Given the description of an element on the screen output the (x, y) to click on. 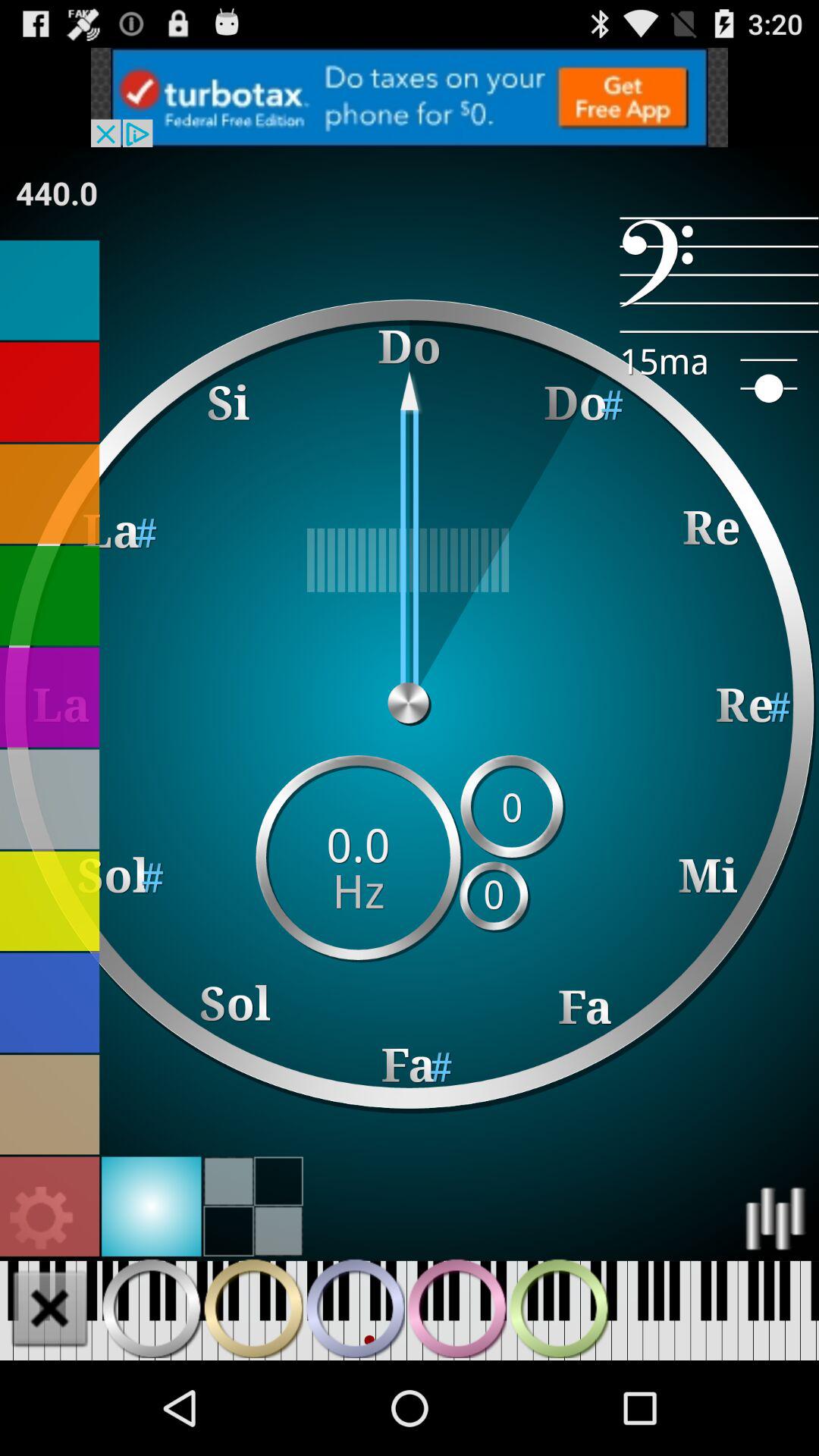
choose light blue background theme (151, 1206)
